Given the description of an element on the screen output the (x, y) to click on. 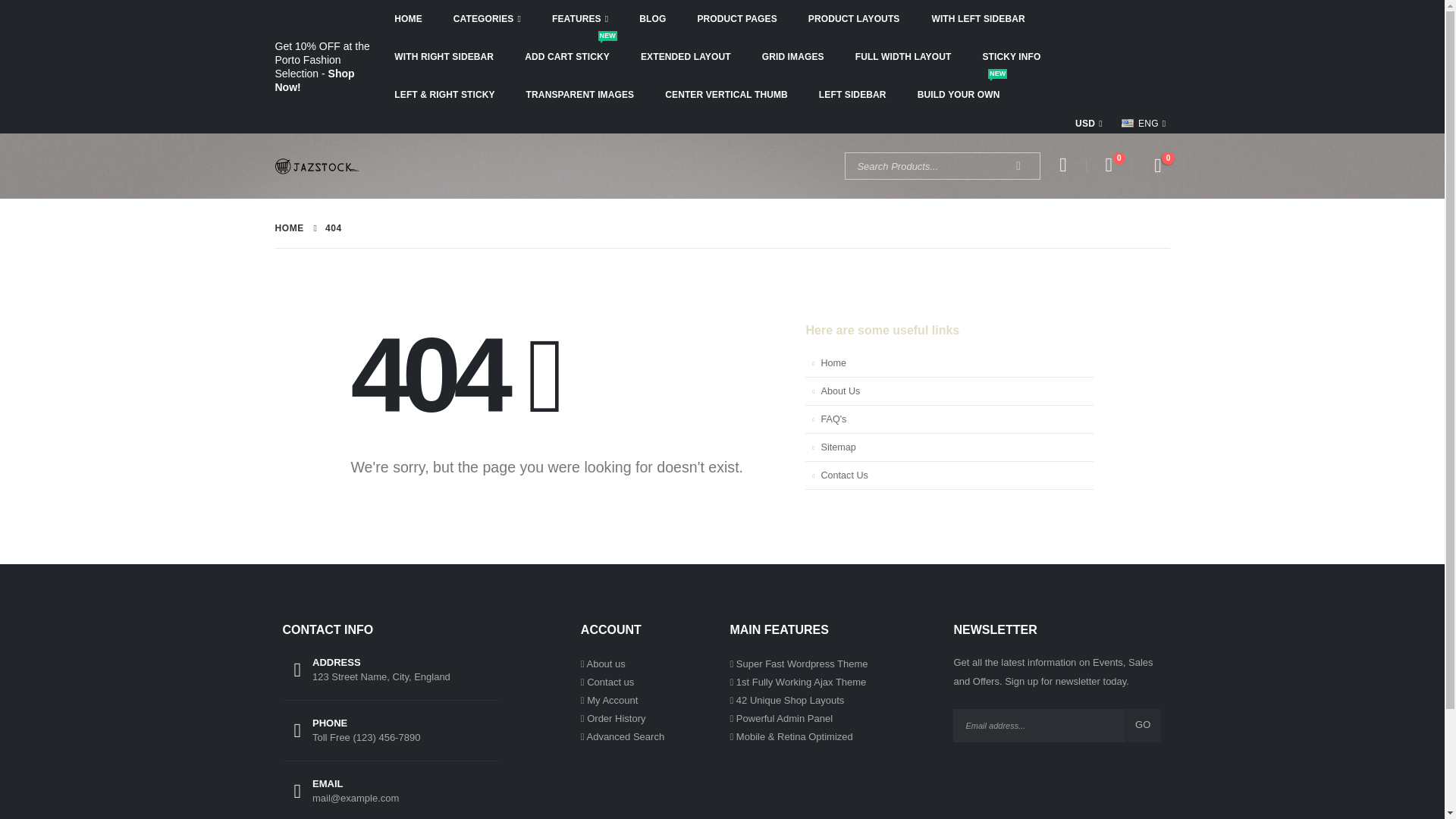
FEATURES (580, 18)
Go to Home Page (288, 228)
16 Unique Shop Layouts (790, 699)
HOME (407, 18)
My Account (611, 699)
Shop Now! (314, 80)
About us (566, 56)
PRODUCT PAGES (605, 663)
My Account (736, 18)
Super Fast Wordpress Theme (1062, 166)
Advanced Search (801, 663)
PRODUCT LAYOUTS (624, 736)
GRID IMAGES (854, 18)
Wishlist (793, 56)
